Given the description of an element on the screen output the (x, y) to click on. 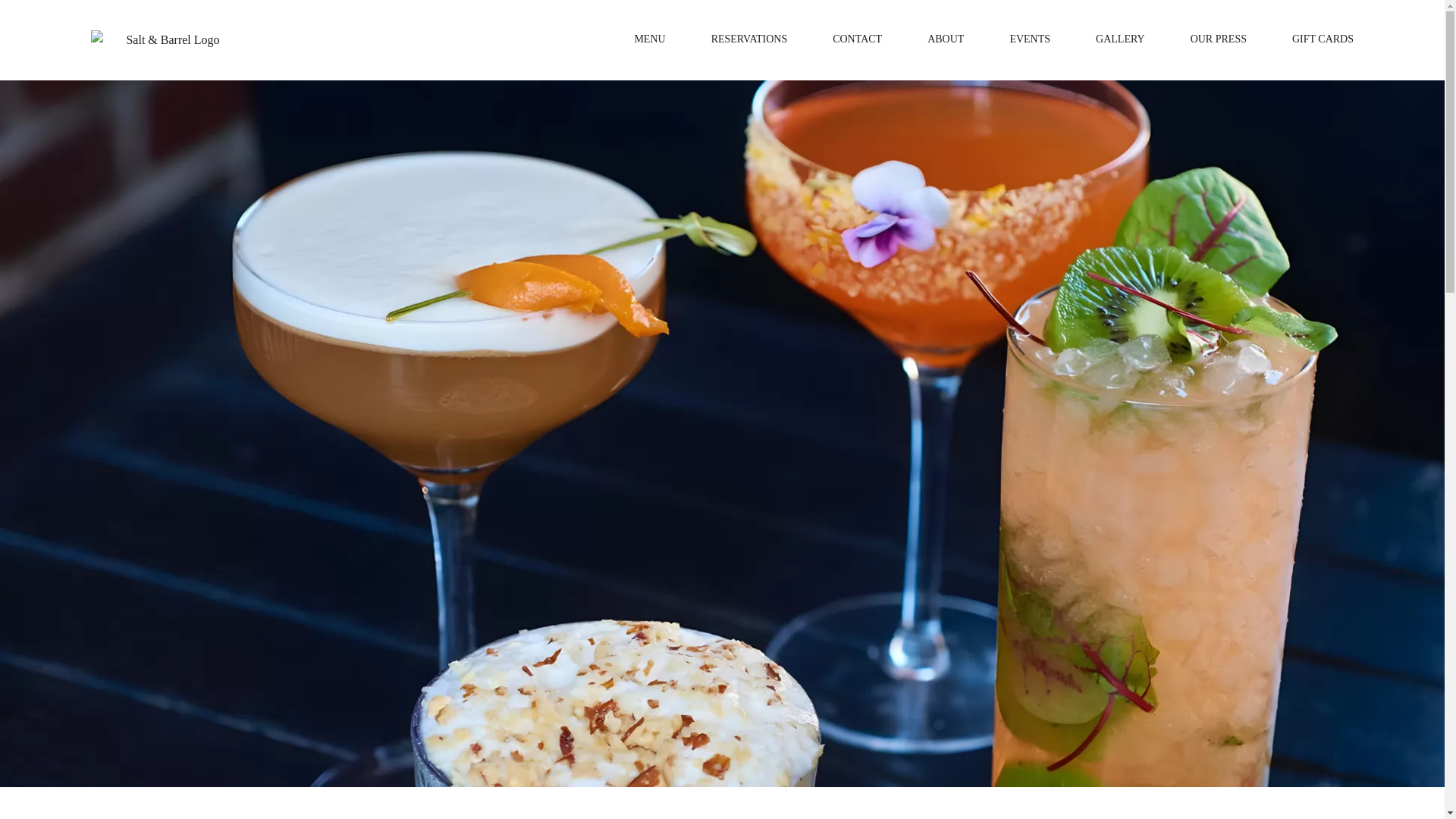
OUR PRESS (1218, 40)
RESERVATIONS (749, 40)
EVENTS (1029, 40)
ABOUT (945, 40)
best restaurant bay shore press (1218, 40)
MENU (649, 40)
CONTACT (857, 40)
GALLERY (1120, 40)
live music long island events (1029, 40)
fine dining bay shore gift cards (1323, 40)
fine dining menu near fire island ferries (649, 40)
seafood restaurant reservations near babylon (749, 40)
suffolk county baby shower catering gallery (1120, 40)
GIFT CARDS (1323, 40)
oyster bar bay shore (166, 39)
